Given the description of an element on the screen output the (x, y) to click on. 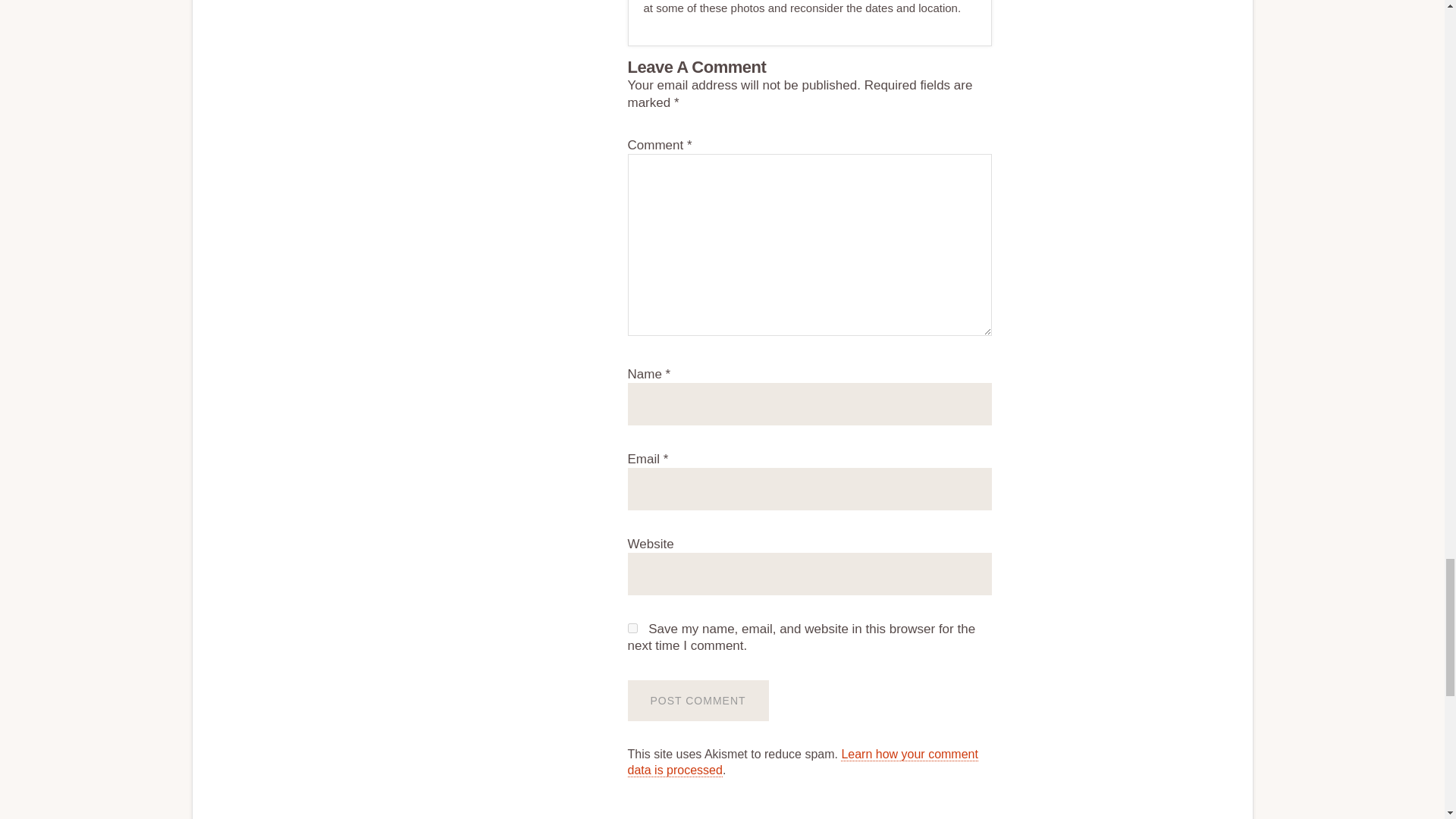
yes (632, 628)
Post Comment (697, 700)
